Given the description of an element on the screen output the (x, y) to click on. 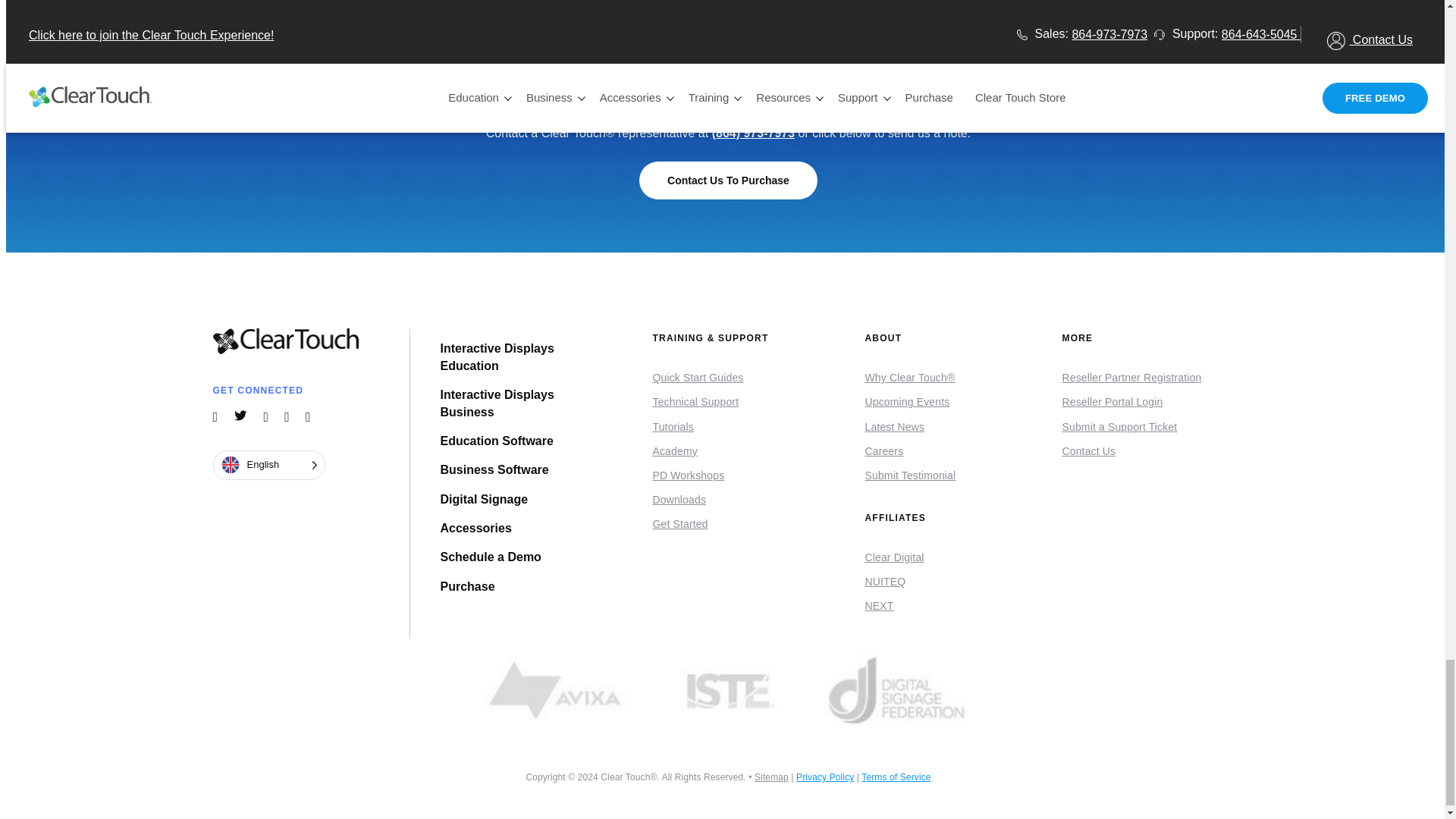
cleartouch-badge (728, 20)
